Given the description of an element on the screen output the (x, y) to click on. 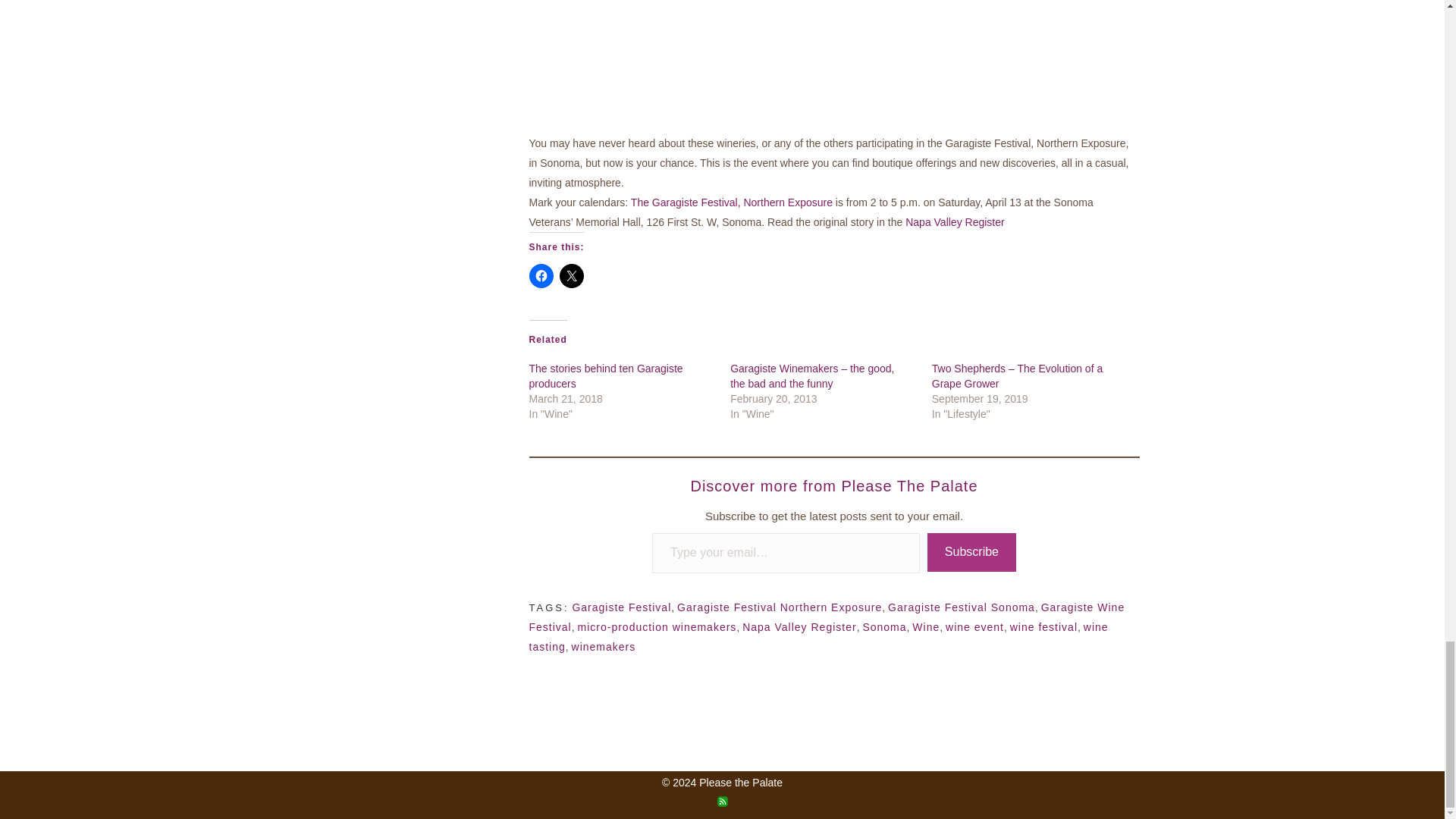
The stories behind ten Garagiste producers (605, 375)
Click to share on Facebook (541, 275)
Click to share on X (571, 275)
Please fill in this field. (786, 553)
